Given the description of an element on the screen output the (x, y) to click on. 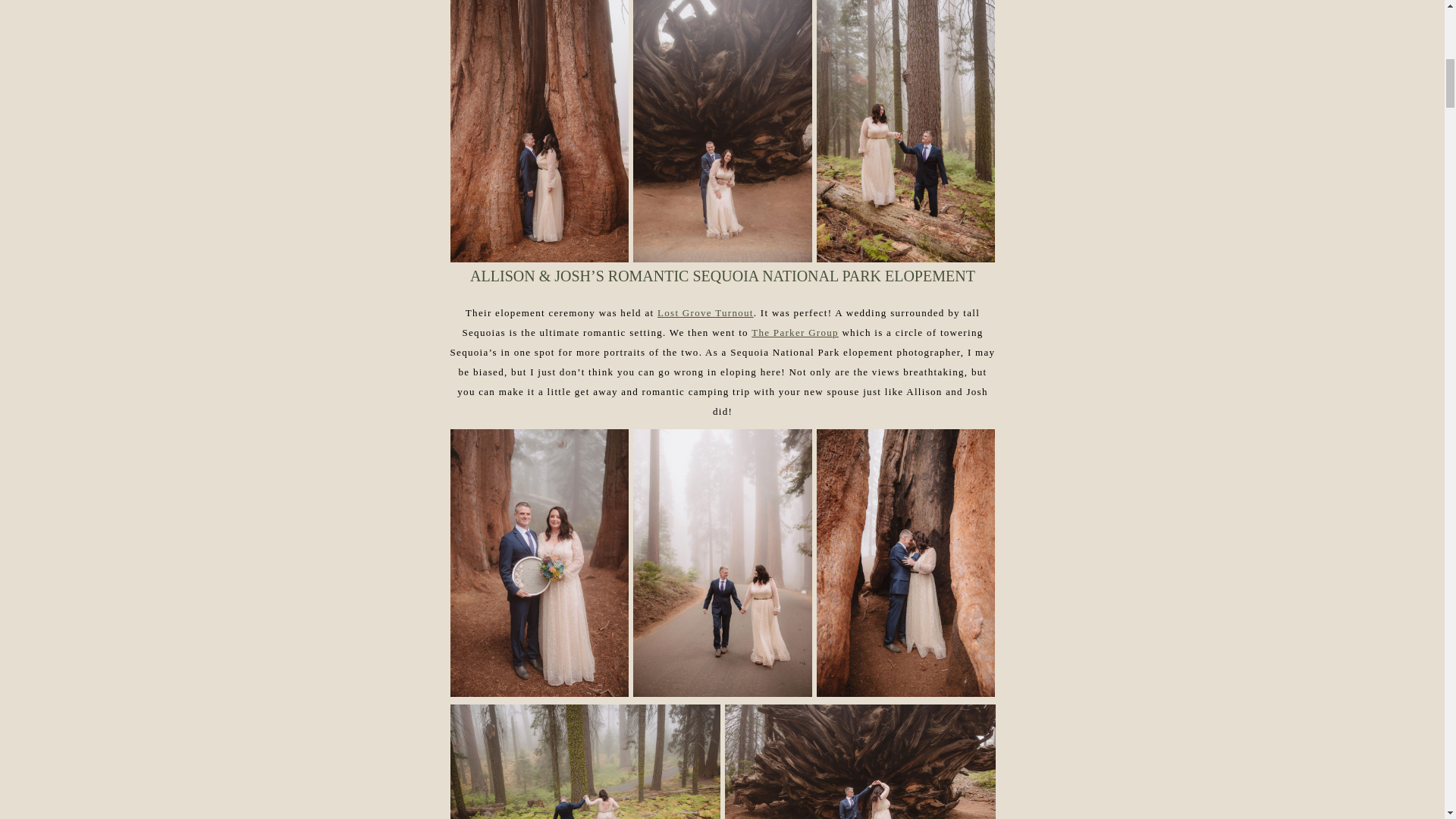
The Parker Group (794, 332)
Lost Grove Turnout (706, 312)
A Romantic Sequoia National Park Elopement (584, 761)
A Romantic Sequoia National Park Elopement (859, 761)
